Given the description of an element on the screen output the (x, y) to click on. 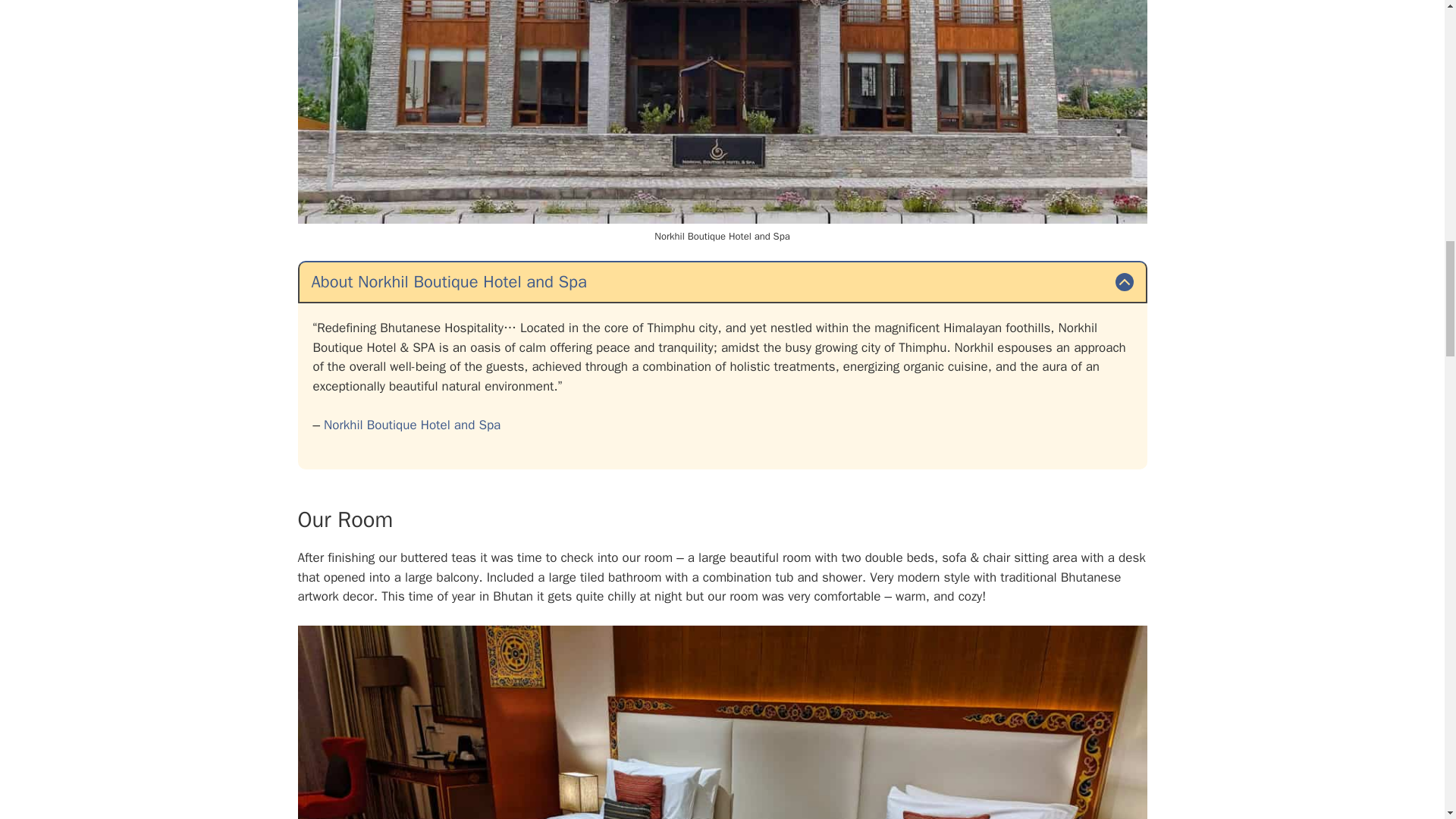
About Norkhil Boutique Hotel and Spa (722, 282)
Norkhil Boutique Hotel and Spa (411, 424)
